Given the description of an element on the screen output the (x, y) to click on. 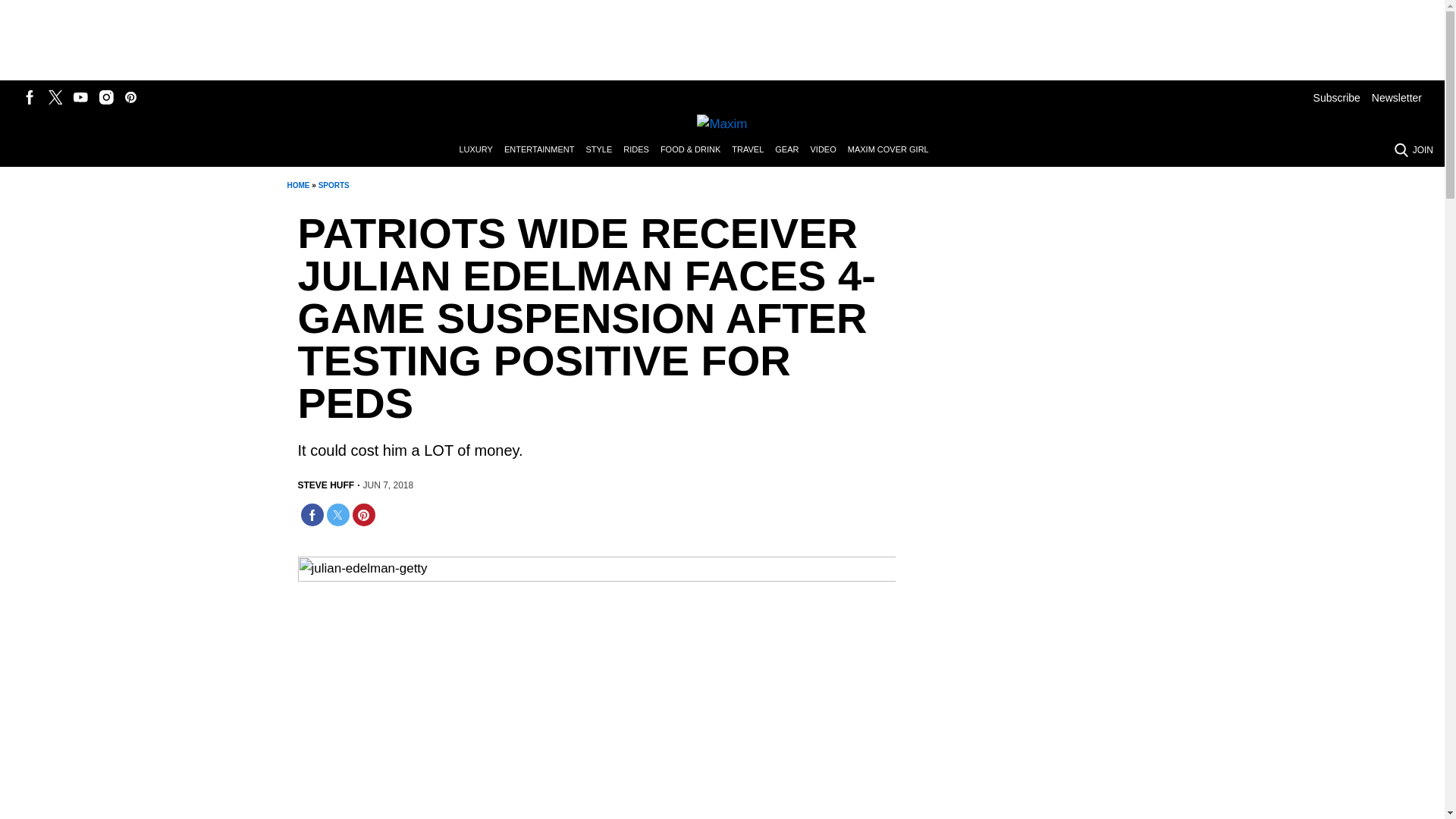
Follow us on Facebook (30, 97)
LUXURY (480, 150)
Posts by Steve Huff (325, 485)
SPORTS (333, 184)
Share on Facebook (311, 514)
ENTERTAINMENT (544, 150)
MAXIM COVER GIRL (893, 150)
Subscribe (1336, 97)
TRAVEL (753, 150)
RIDES (642, 150)
HOME (297, 184)
STEVE HUFF (325, 485)
VIDEO (828, 150)
STYLE (604, 150)
